Given the description of an element on the screen output the (x, y) to click on. 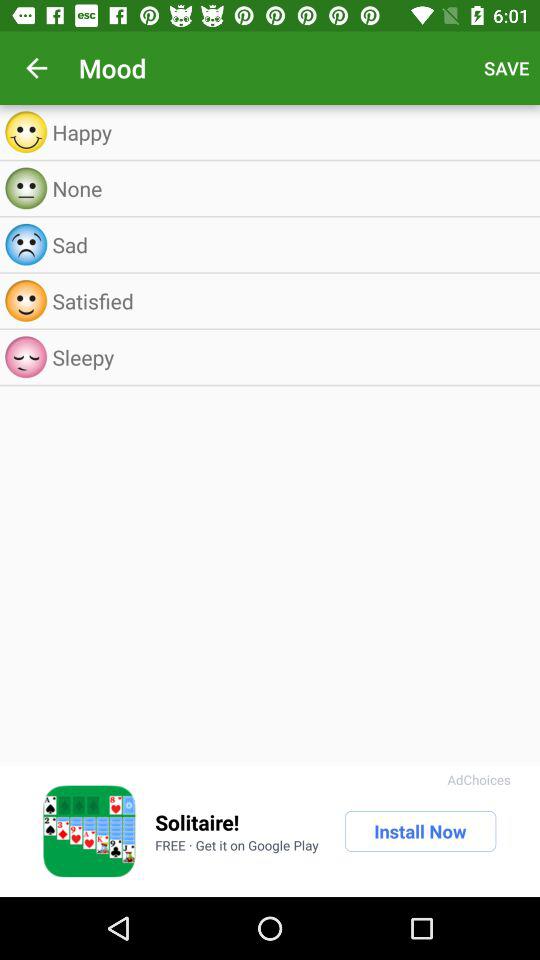
turn off solitaire! icon (197, 822)
